Given the description of an element on the screen output the (x, y) to click on. 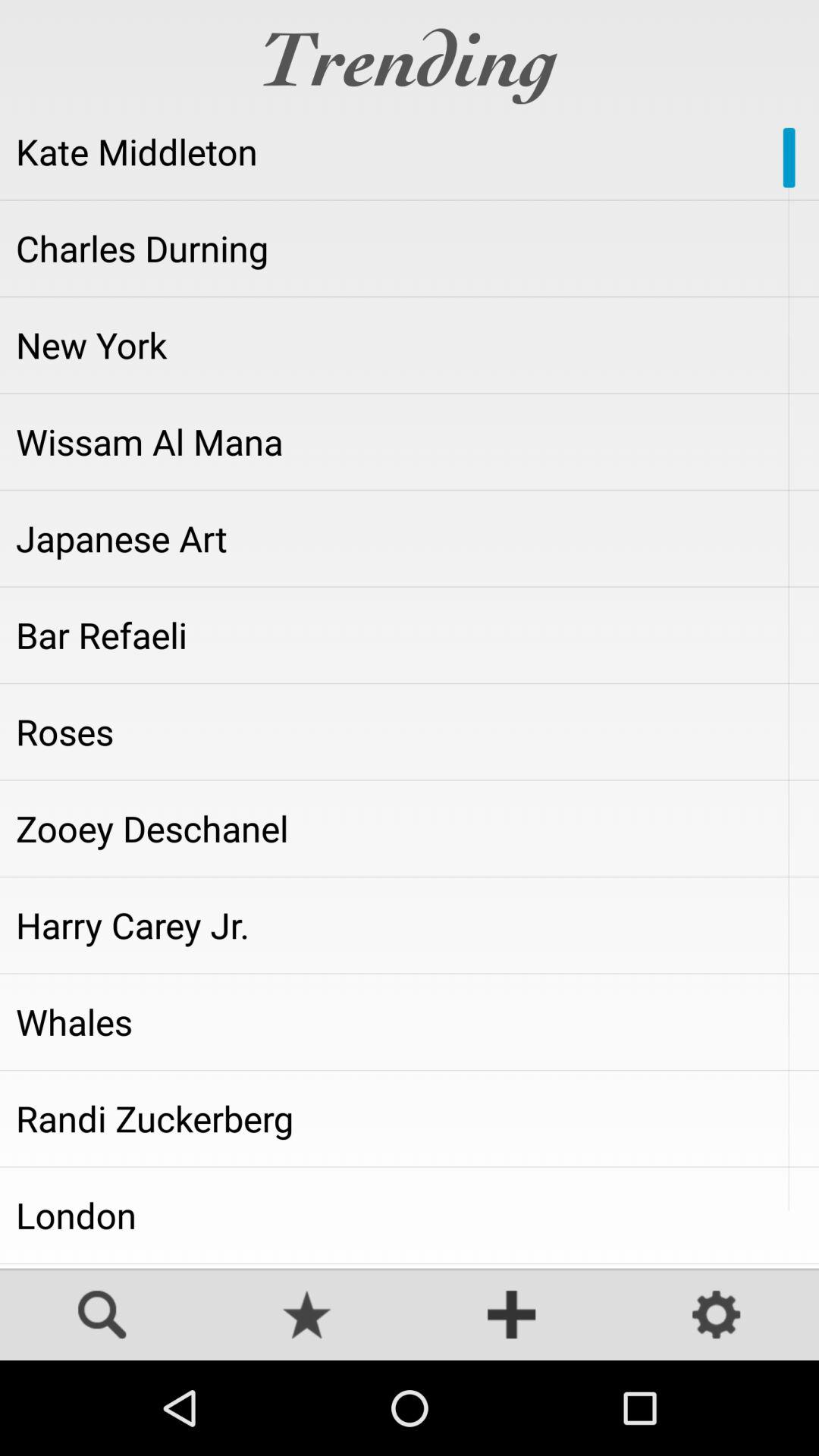
tap new york item (409, 345)
